Given the description of an element on the screen output the (x, y) to click on. 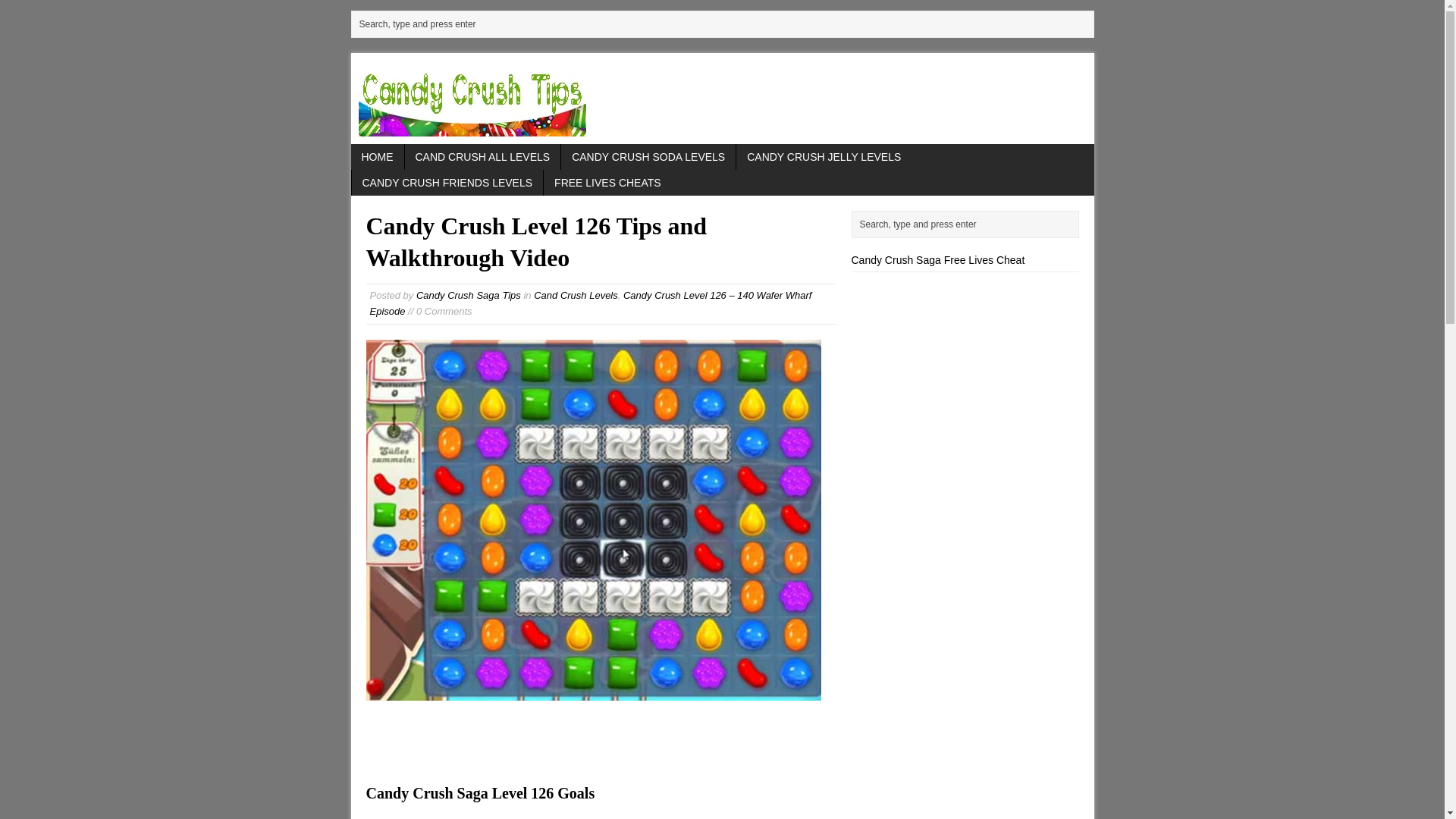
CAND CRUSH ALL LEVELS (482, 156)
Candy Crush Tips (721, 98)
CANDY CRUSH JELLY LEVELS (823, 156)
HOME (376, 156)
Search, type and press enter (725, 24)
CANDY CRUSH FRIENDS LEVELS (447, 182)
Cand Crush Levels (575, 295)
CANDY CRUSH SODA LEVELS (647, 156)
Posts by Candy Crush Saga Tips (468, 295)
